Given the description of an element on the screen output the (x, y) to click on. 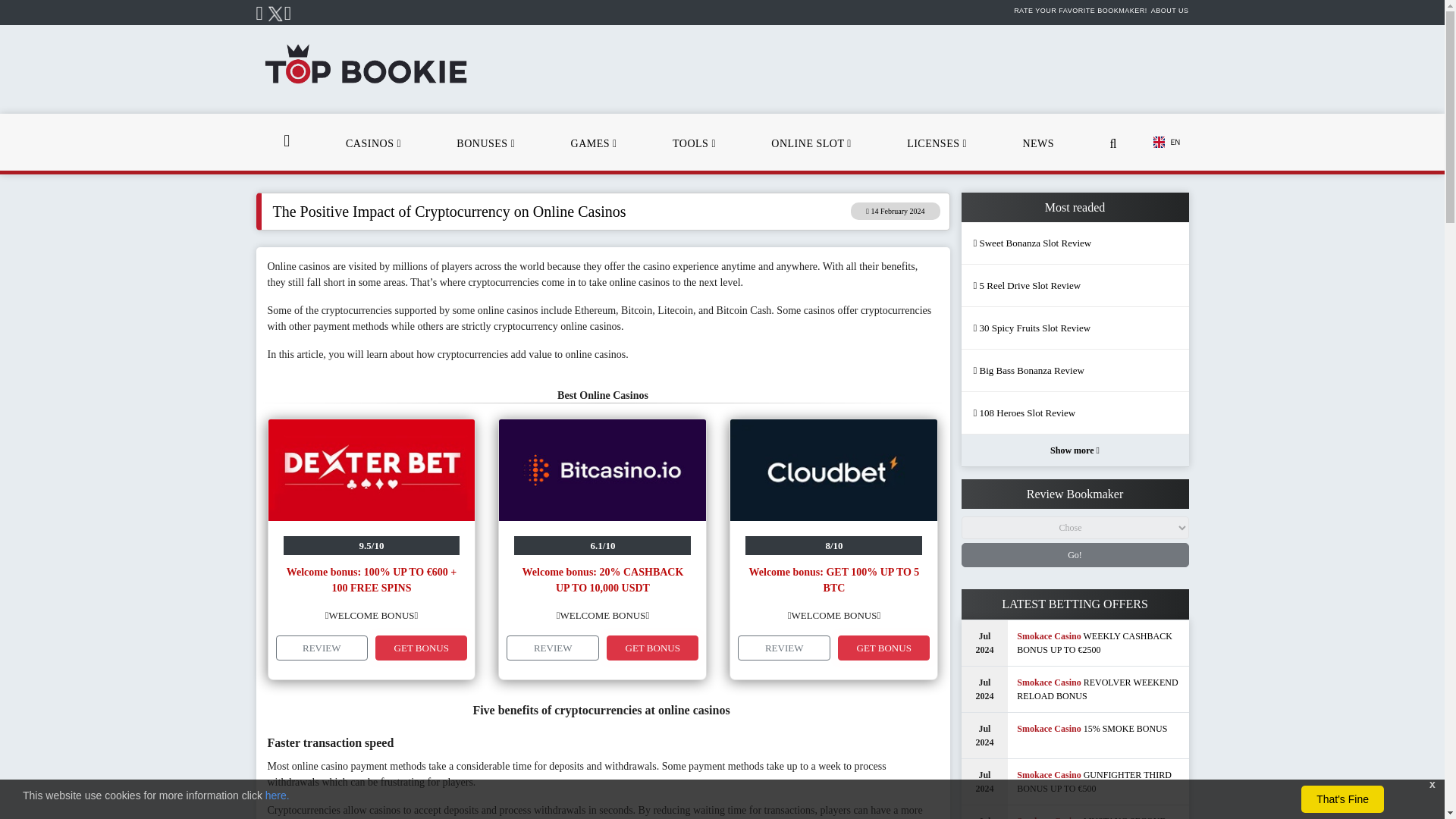
RATE YOUR FAVORITE BOOKMAKER! (1080, 11)
LICENSES (936, 141)
TOOLS (694, 141)
BONUSES (485, 141)
GAMES (593, 141)
ONLINE SLOT (810, 141)
ABOUT US (1170, 11)
CASINOS (372, 141)
